Given the description of an element on the screen output the (x, y) to click on. 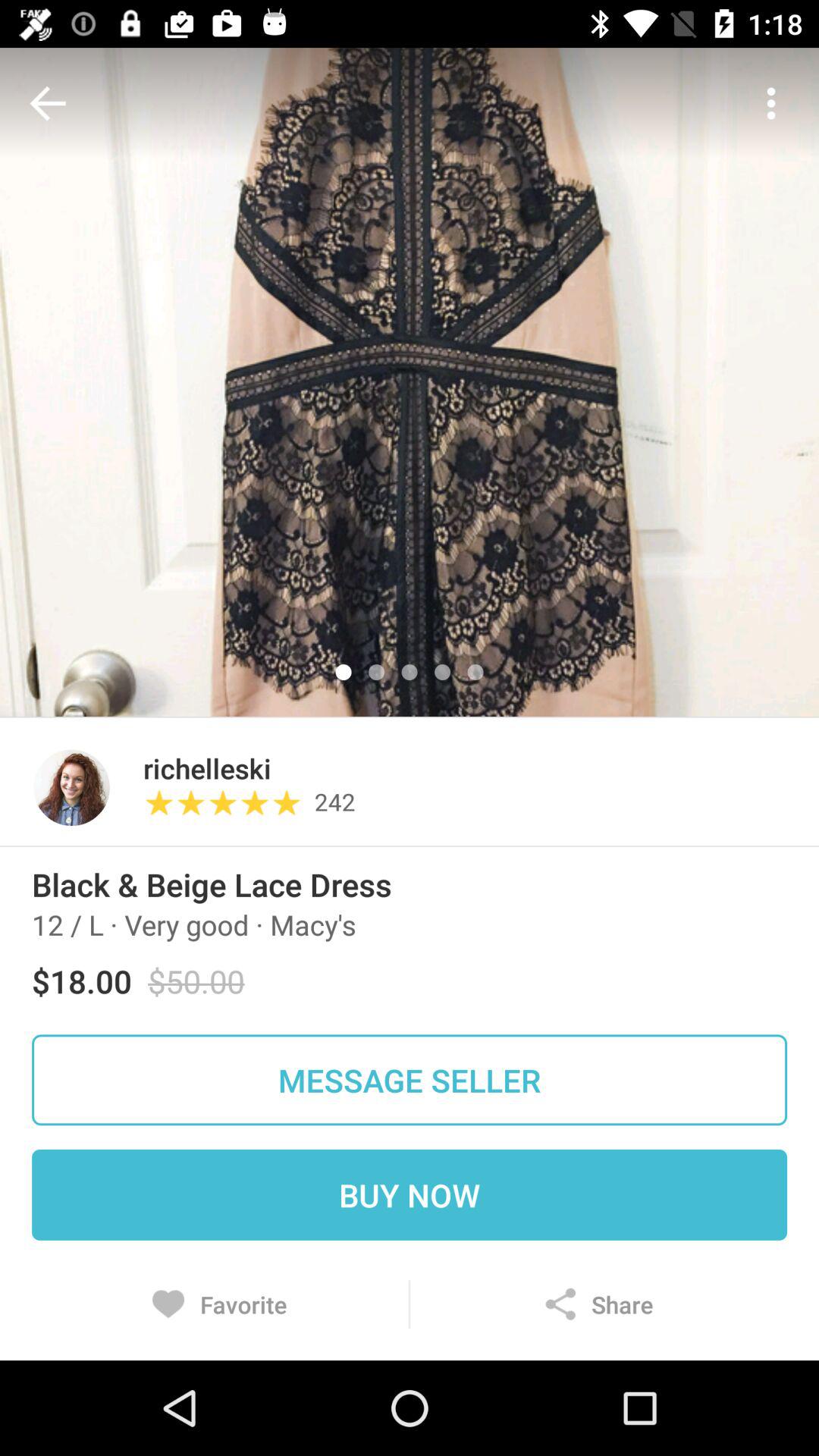
select the item below the buy now (219, 1304)
